Given the description of an element on the screen output the (x, y) to click on. 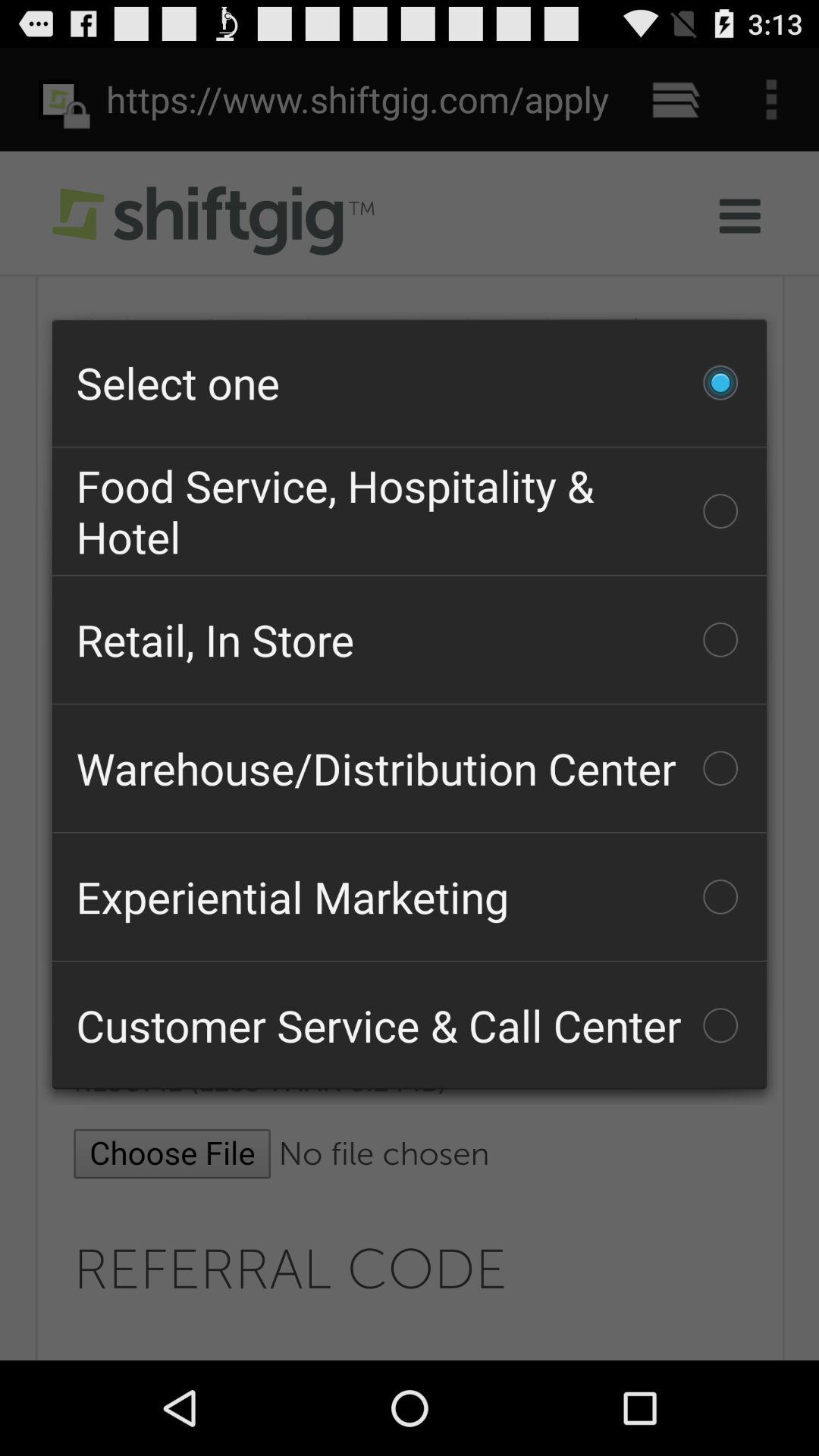
click food service hospitality checkbox (409, 511)
